Given the description of an element on the screen output the (x, y) to click on. 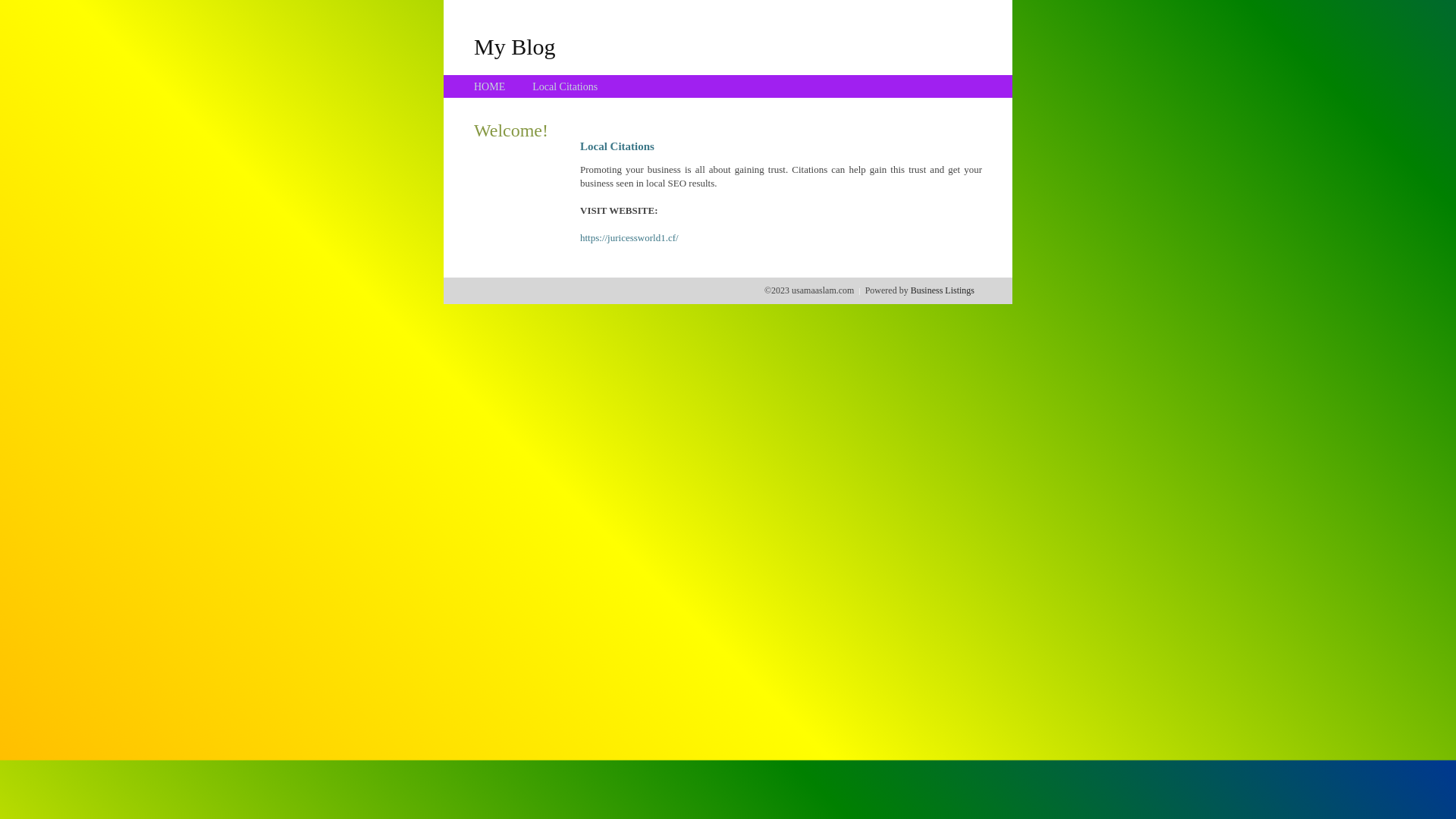
Business Listings Element type: text (942, 290)
HOME Element type: text (489, 86)
https://juricessworld1.cf/ Element type: text (629, 237)
Local Citations Element type: text (564, 86)
My Blog Element type: text (514, 46)
